Given the description of an element on the screen output the (x, y) to click on. 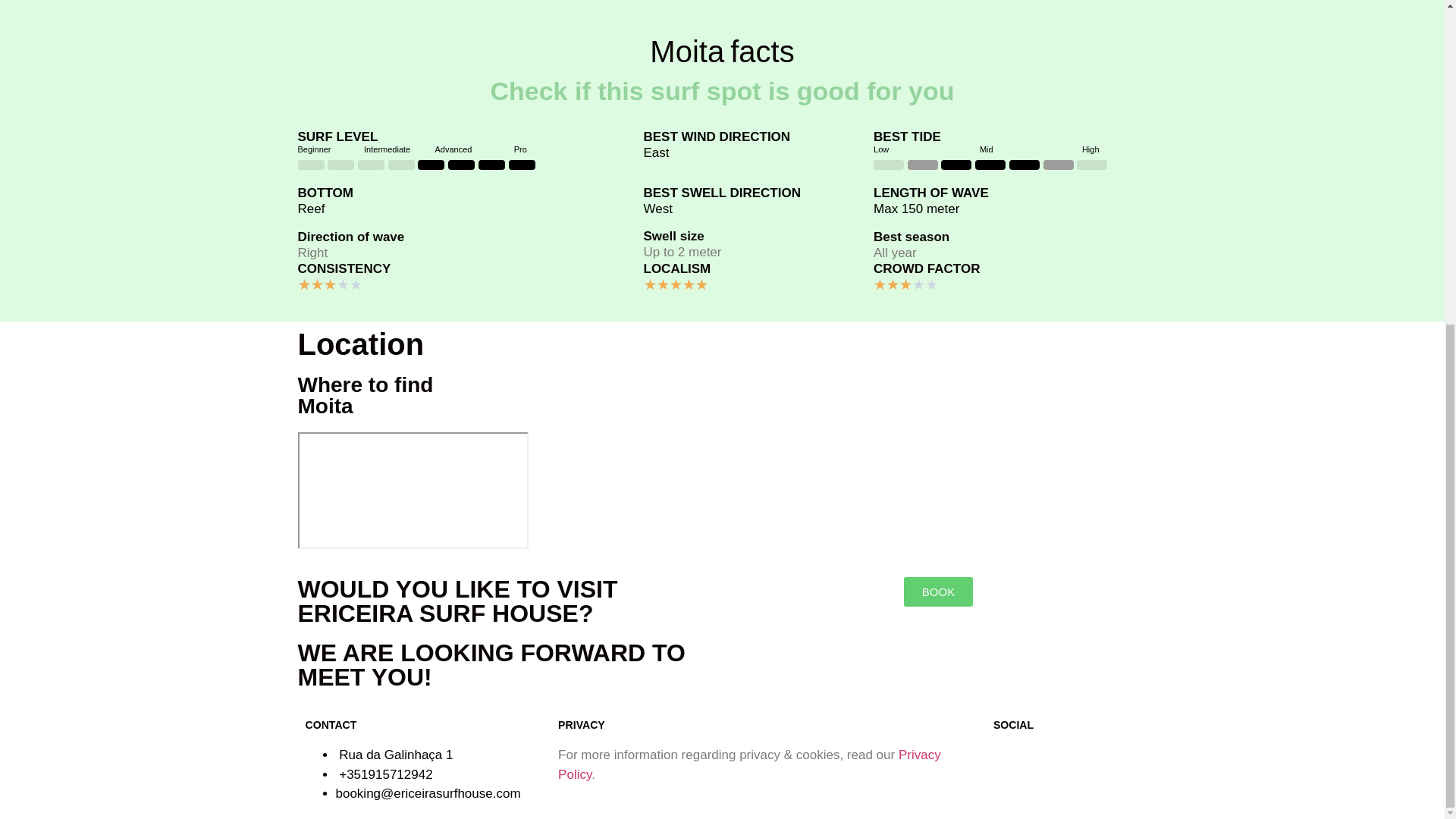
38.969650, -9.420921 (412, 490)
BOOK (938, 591)
Privacy Policy (748, 764)
